Given the description of an element on the screen output the (x, y) to click on. 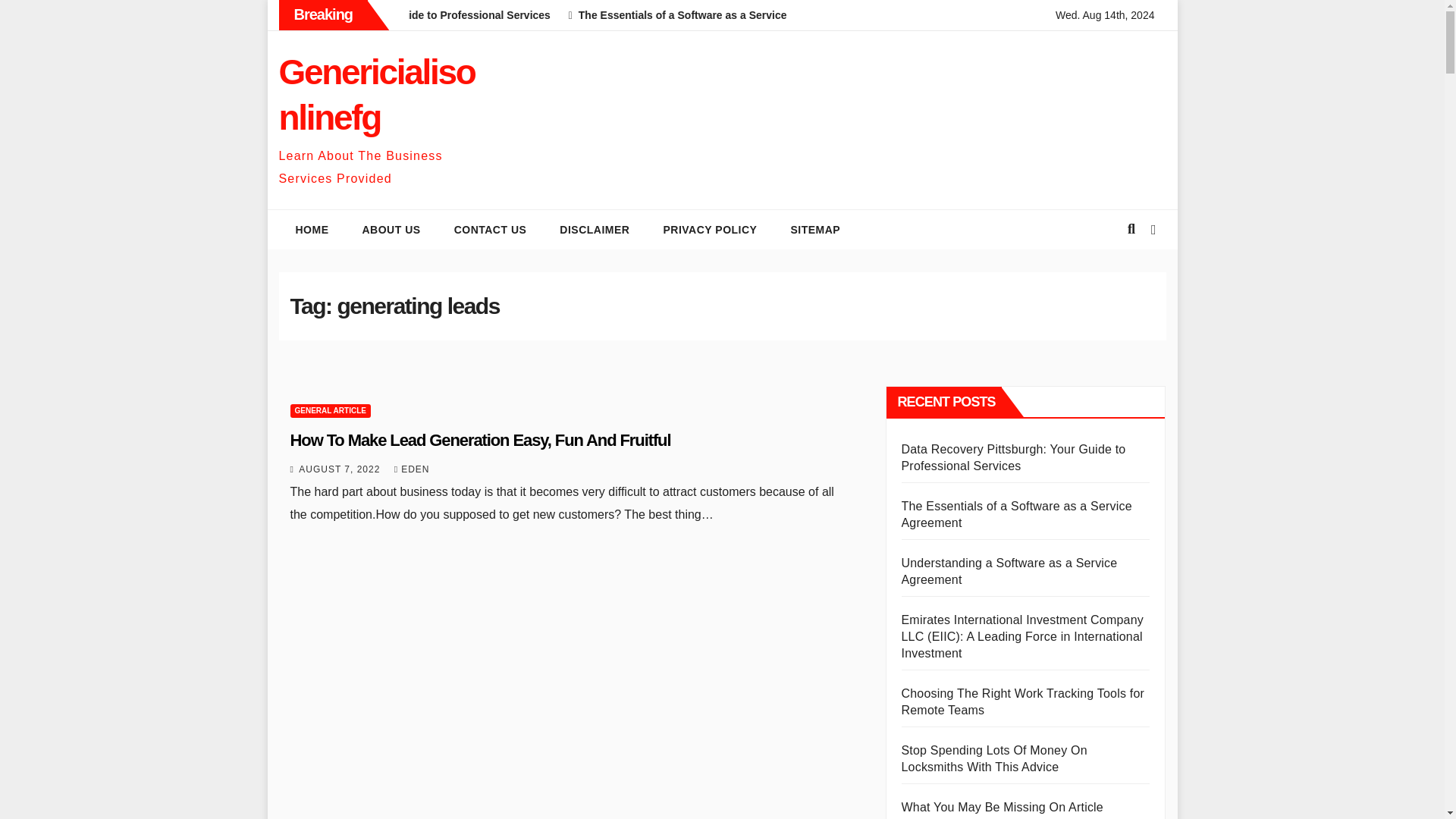
AUGUST 7, 2022 (341, 469)
SITEMAP (815, 229)
GENERAL ARTICLE (329, 410)
Understanding a Software as a Service Agreement (1008, 571)
HOME (312, 229)
DISCLAIMER (594, 229)
EDEN (411, 469)
PRIVACY POLICY (709, 229)
ABOUT US (392, 229)
Stop Spending Lots Of Money On Locksmiths With This Advice (993, 758)
